Given the description of an element on the screen output the (x, y) to click on. 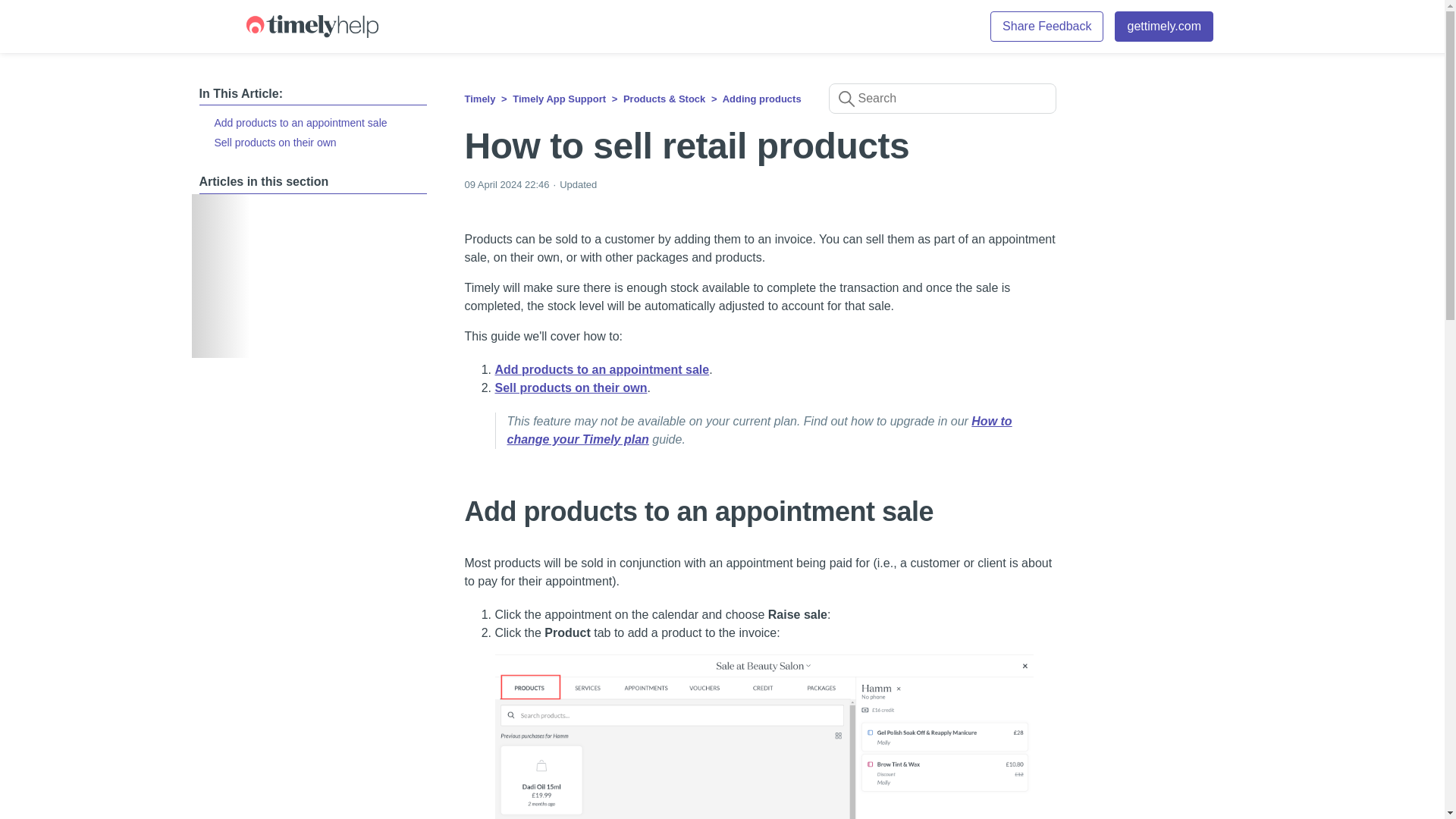
2024-04-09T22:46:22Z (506, 184)
Add products to an appointment sale (602, 369)
Timely App Support (558, 98)
How to sell retail products (759, 146)
How to change your Timely plan (758, 429)
Timely (479, 98)
Share Feedback (1046, 26)
Adding products (762, 98)
Sell products on their own (570, 387)
Sell products on their own (311, 142)
